Given the description of an element on the screen output the (x, y) to click on. 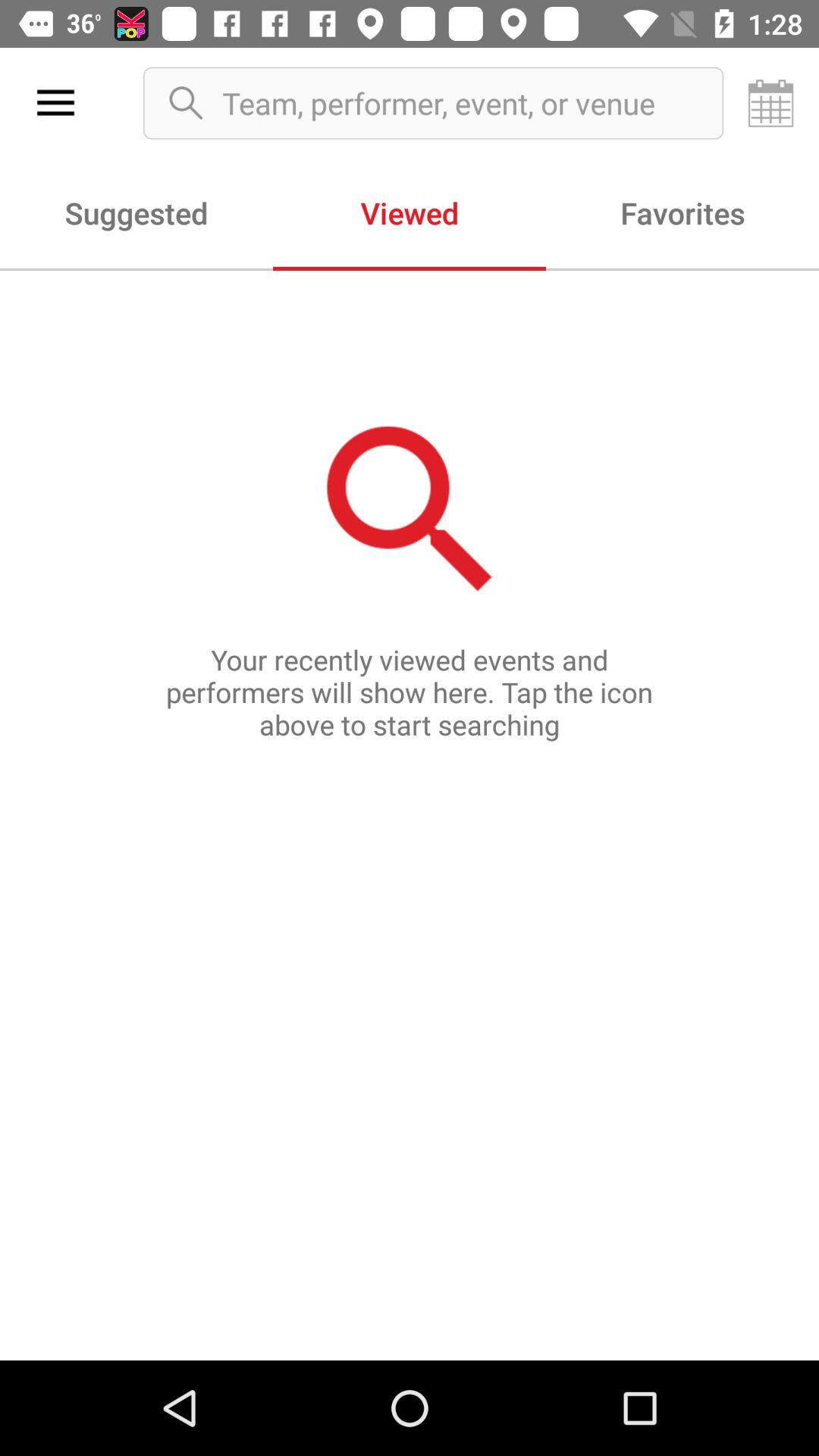
press the item next to viewed item (136, 212)
